Given the description of an element on the screen output the (x, y) to click on. 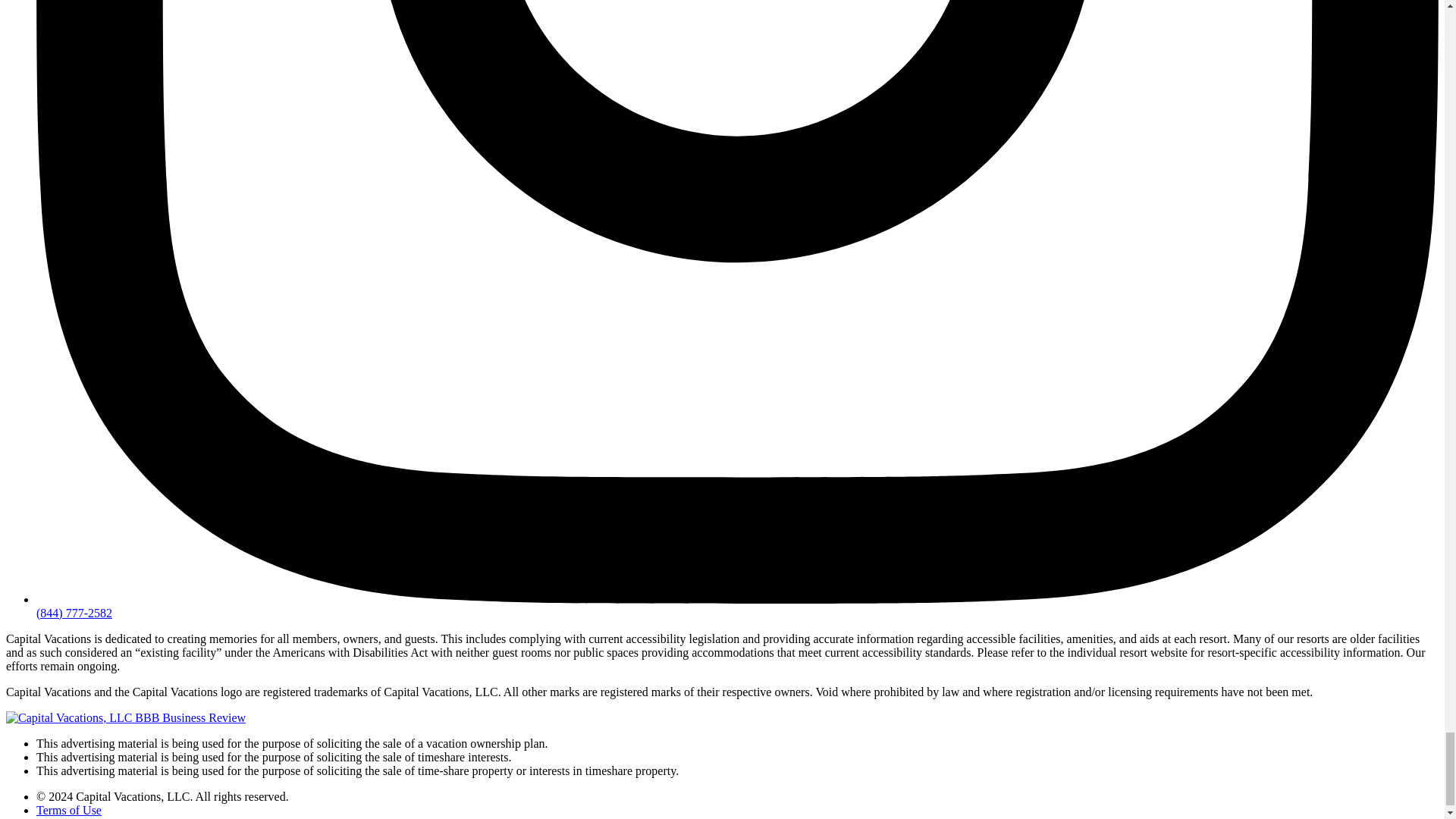
Terms of Use (68, 809)
